Given the description of an element on the screen output the (x, y) to click on. 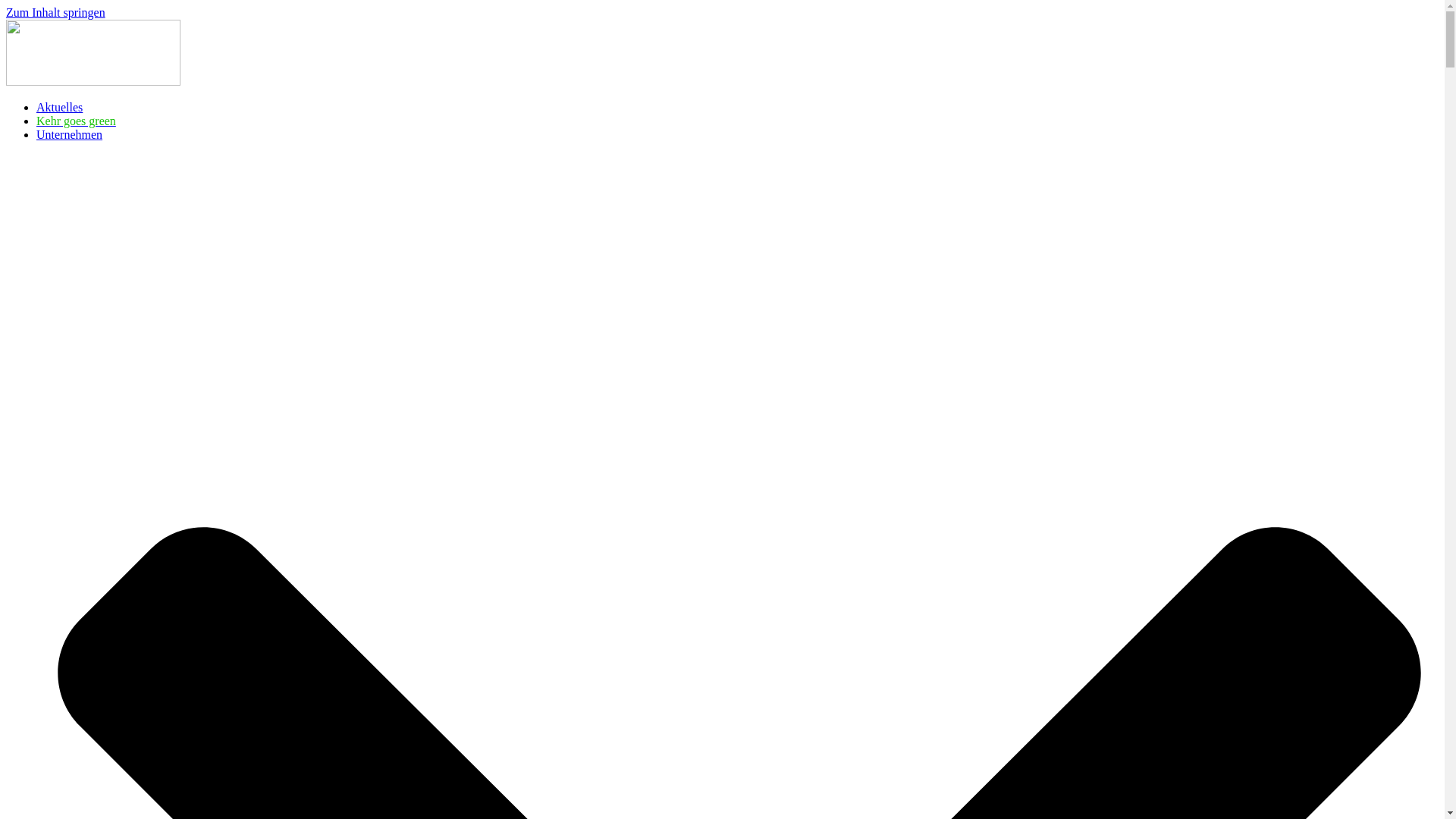
Kehr goes green Element type: text (76, 120)
Zum Inhalt springen Element type: text (55, 12)
Unternehmen Element type: text (69, 134)
Aktuelles Element type: text (59, 106)
